Given the description of an element on the screen output the (x, y) to click on. 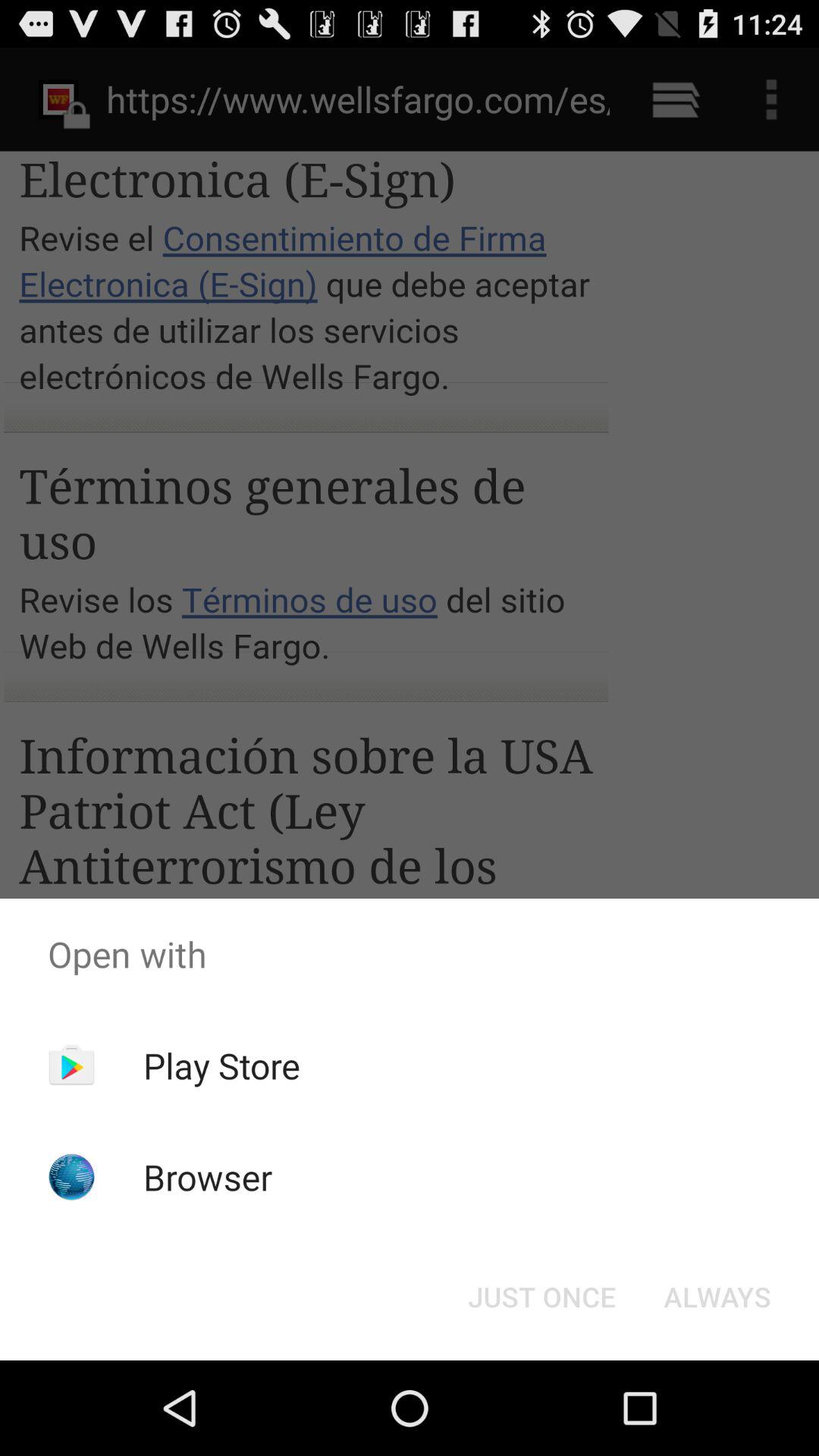
launch the icon at the bottom (541, 1296)
